Given the description of an element on the screen output the (x, y) to click on. 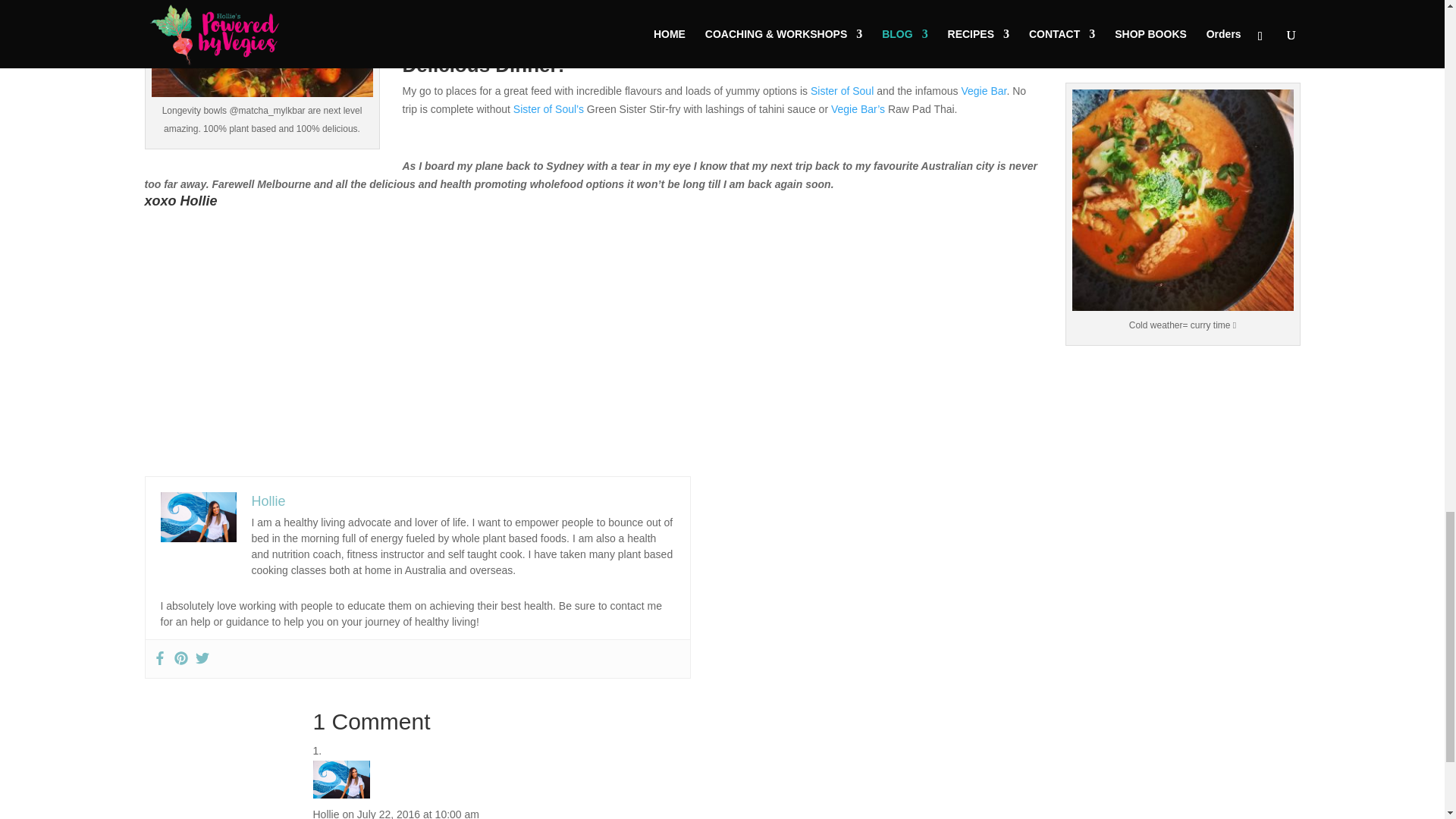
Pinterest (180, 658)
Twitter (202, 658)
Facebook (159, 658)
